Given the description of an element on the screen output the (x, y) to click on. 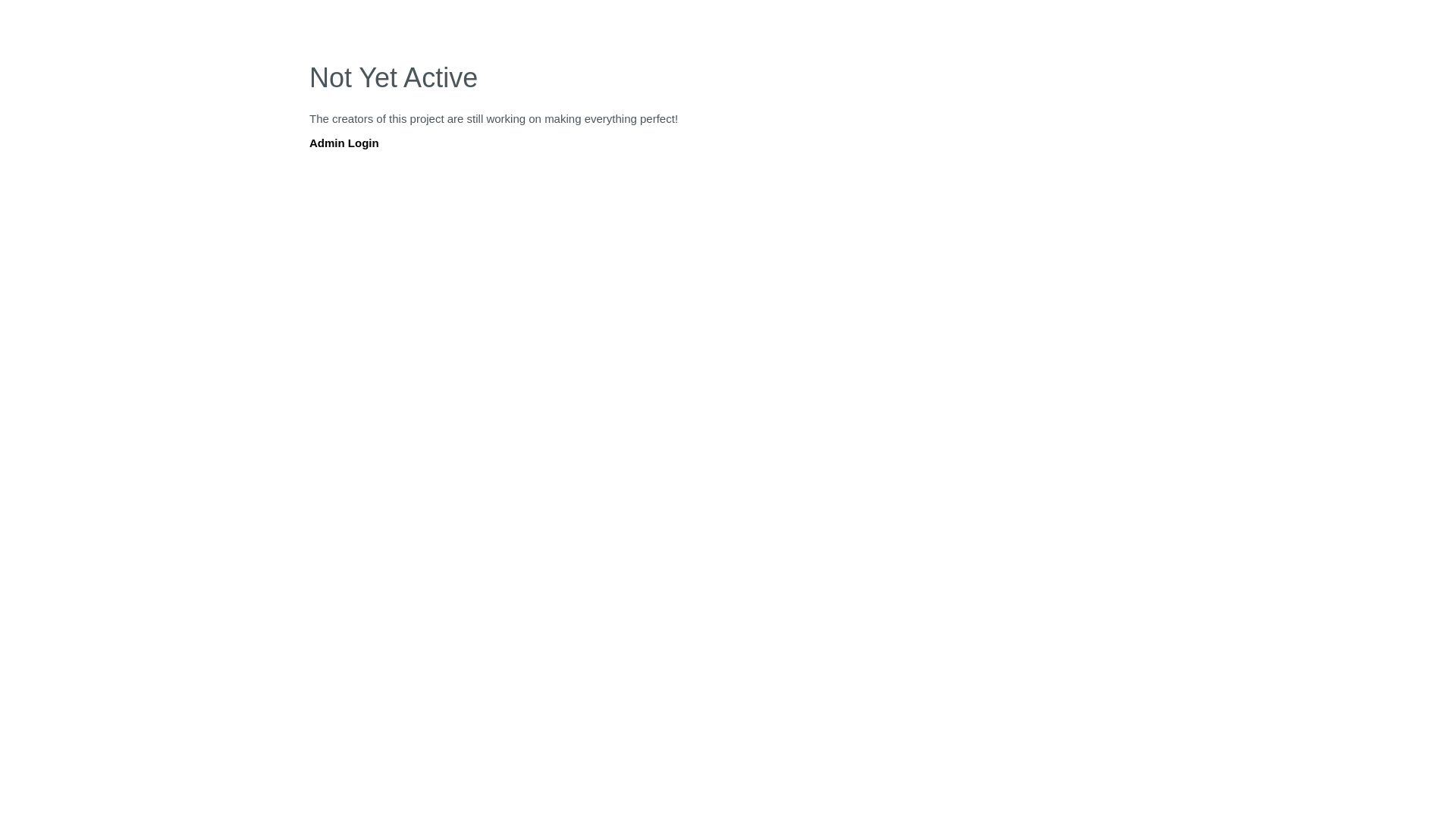
Admin Login Element type: text (344, 142)
